Given the description of an element on the screen output the (x, y) to click on. 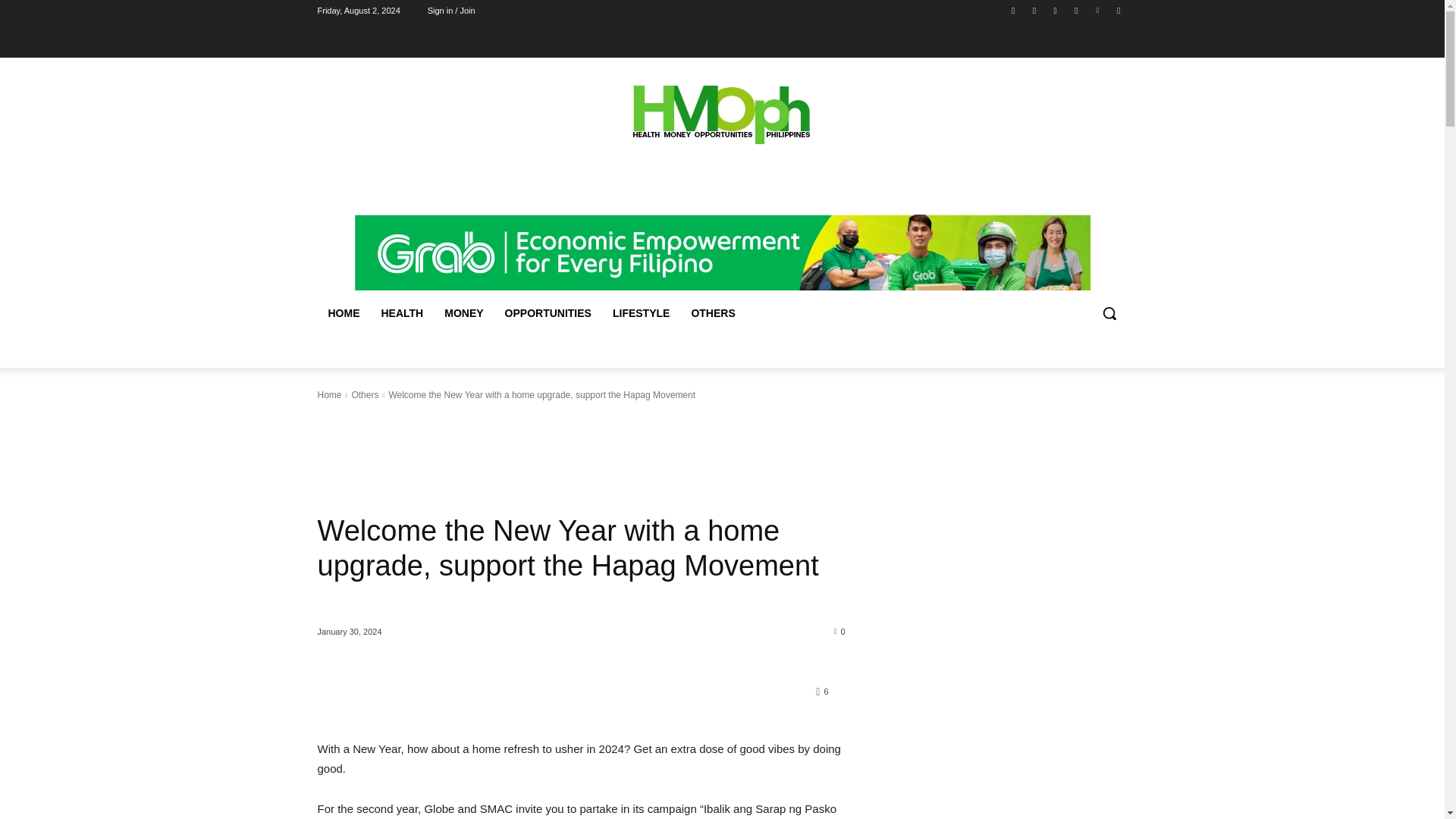
View all posts in Others (364, 394)
Reddit (1055, 9)
HOME (343, 312)
TikTok (1075, 9)
HEALTH (401, 312)
MONEY (463, 312)
Twitter (1097, 9)
LIFESTYLE (640, 312)
Facebook (1013, 9)
Youtube (1117, 9)
OPPORTUNITIES (548, 312)
Instagram (1034, 9)
